Given the description of an element on the screen output the (x, y) to click on. 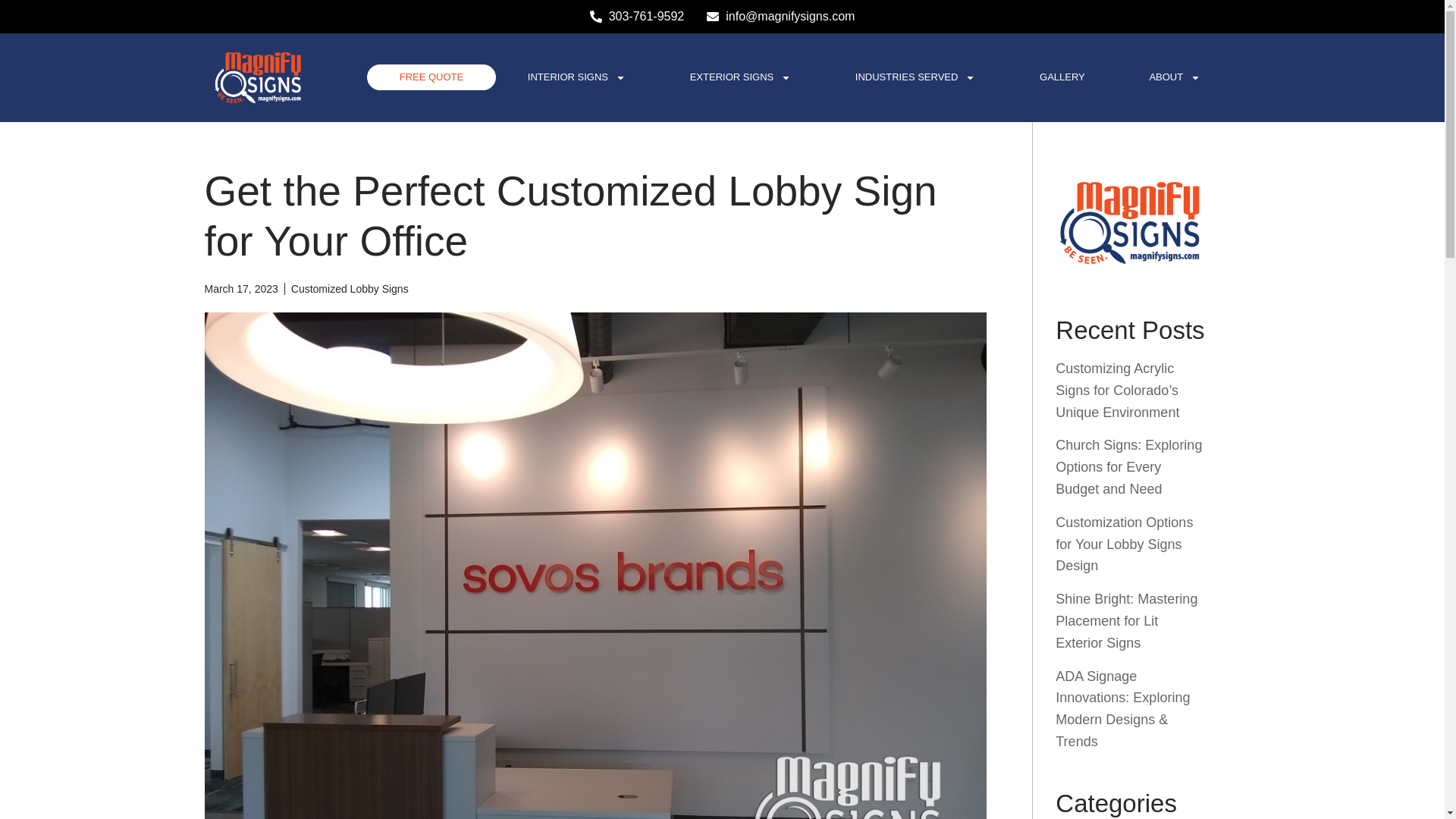
FREE QUOTE (430, 77)
GALLERY (1061, 77)
INDUSTRIES SERVED (915, 77)
INTERIOR SIGNS (577, 77)
ABOUT (1173, 77)
EXTERIOR SIGNS (740, 77)
303-761-9592 (636, 16)
